Given the description of an element on the screen output the (x, y) to click on. 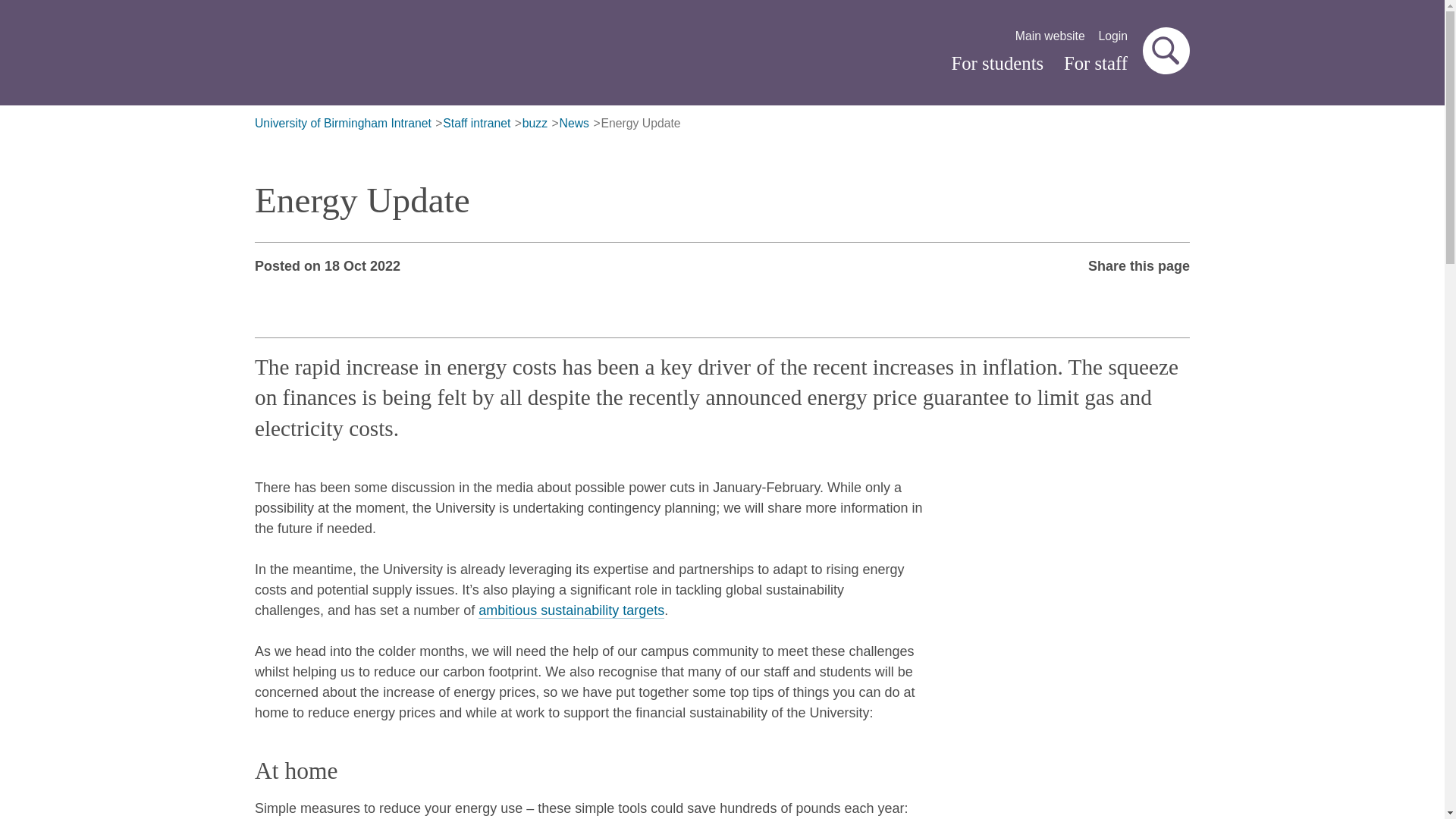
Share on linkedin (1123, 296)
Share on Twitter (1034, 296)
Search (1165, 50)
Share in LinkedIn (1123, 296)
ambitious sustainability targets (571, 610)
Share on Twitter (1034, 296)
University of Birmingham (420, 55)
News (574, 123)
University of Birmingham Intranet (342, 123)
buzz (534, 123)
